Given the description of an element on the screen output the (x, y) to click on. 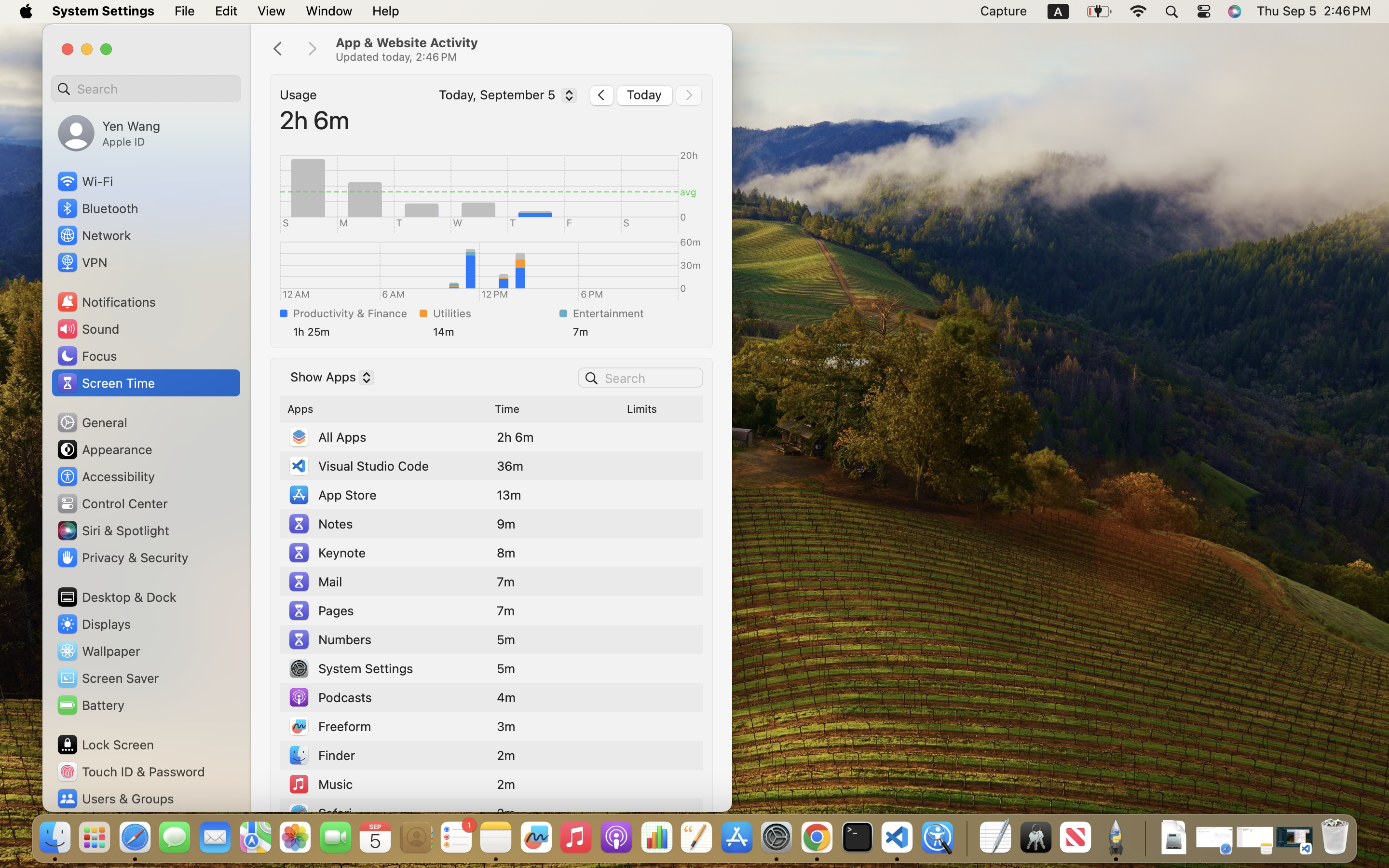
General Element type: AXStaticText (91, 422)
Utilities Element type: AXStaticText (494, 313)
9m Element type: AXStaticText (505, 523)
All Apps Element type: AXStaticText (326, 436)
Focus Element type: AXStaticText (85, 355)
